Given the description of an element on the screen output the (x, y) to click on. 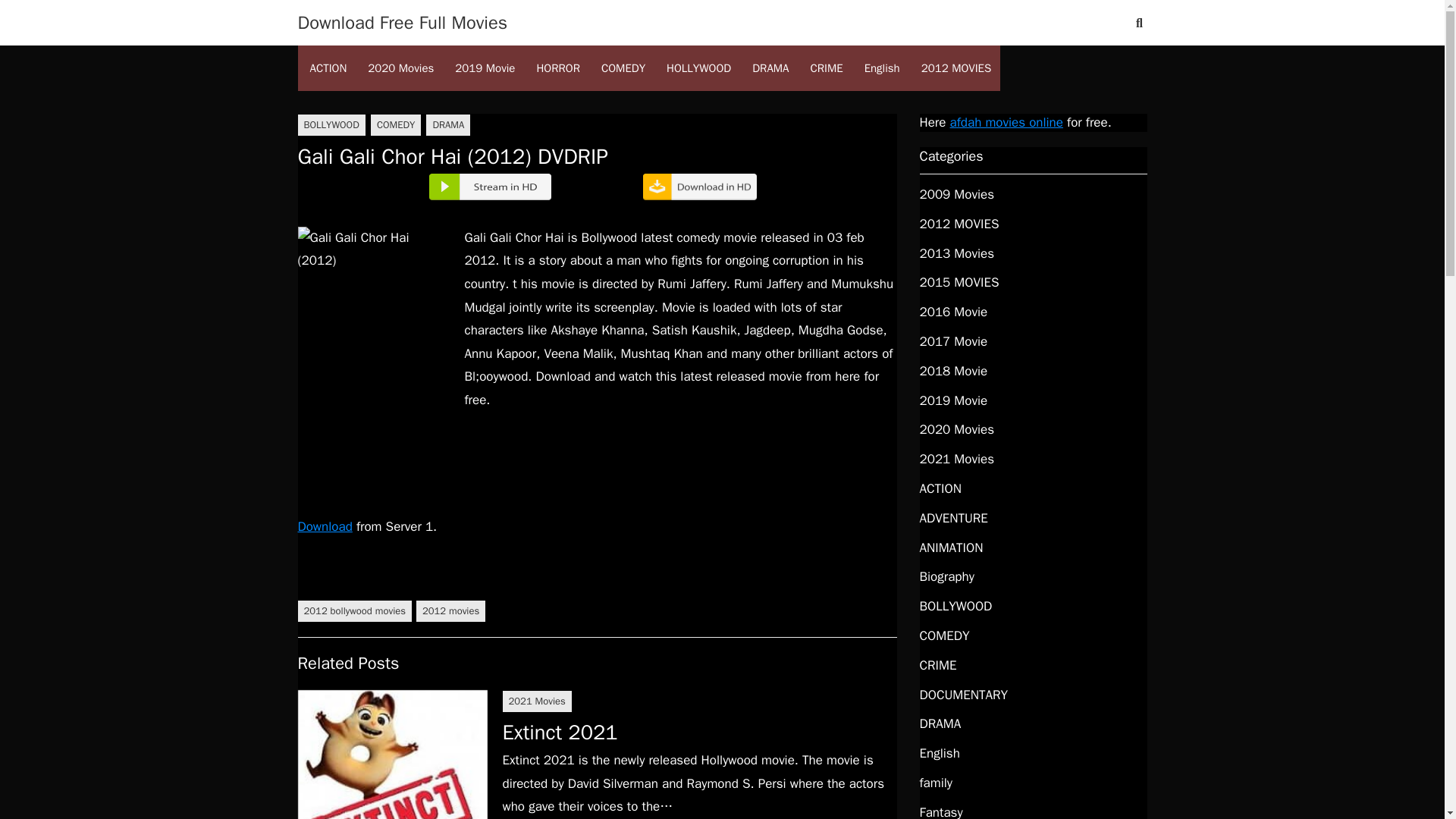
COMEDY (395, 124)
HOLLYWOOD (698, 67)
2012 movies (450, 610)
2020 Movies (400, 67)
DRAMA (769, 67)
CRIME (825, 67)
English (882, 67)
Extinct 2021 (559, 732)
DRAMA (448, 124)
Download (324, 526)
